Given the description of an element on the screen output the (x, y) to click on. 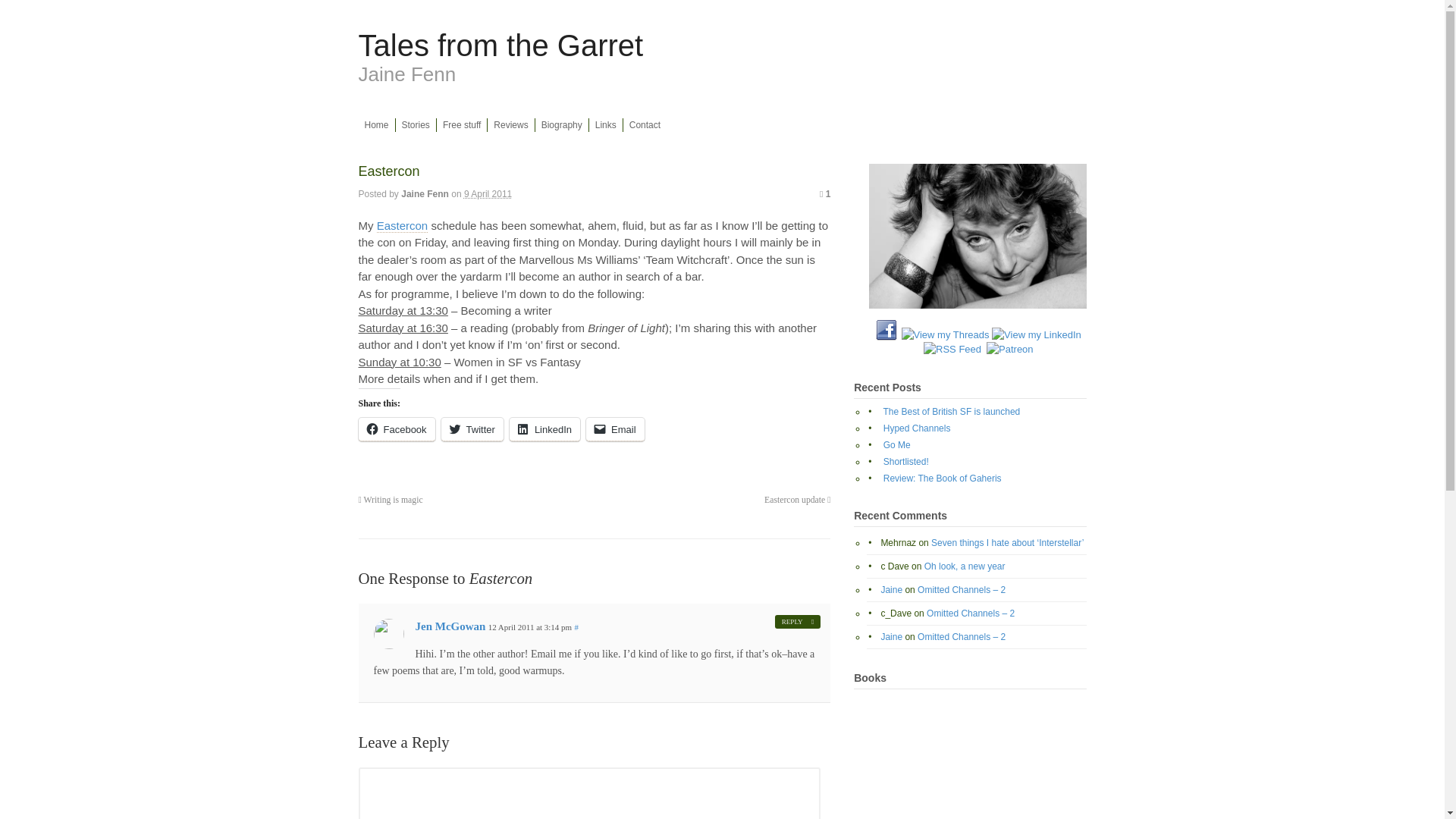
Free stuff (461, 124)
Biography (561, 124)
Reviews (510, 124)
Click to email a link to a friend (615, 429)
Click to share on Twitter (472, 429)
1 (824, 194)
Click to share on Facebook (395, 429)
Contact (644, 124)
Twitter (472, 429)
Facebook (395, 429)
